Given the description of an element on the screen output the (x, y) to click on. 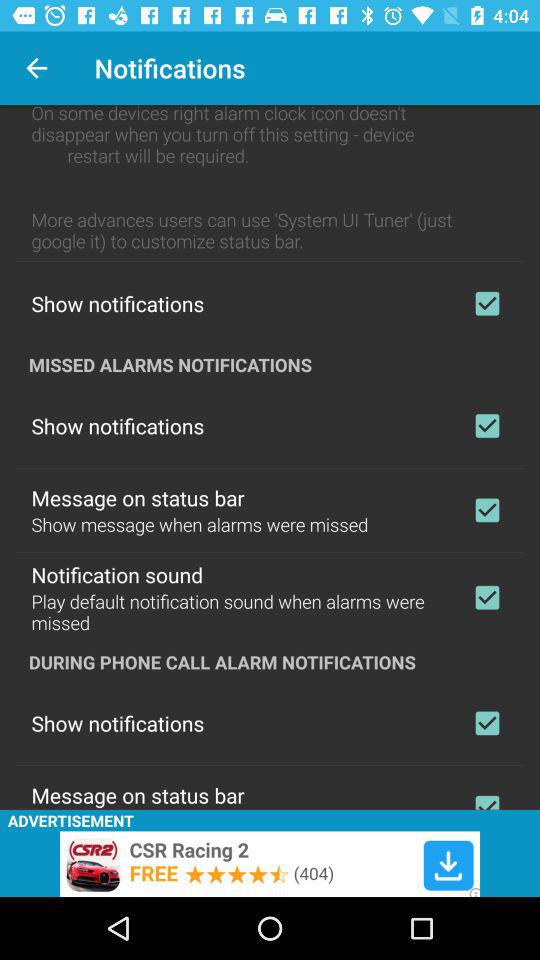
go to select putturn (487, 797)
